Given the description of an element on the screen output the (x, y) to click on. 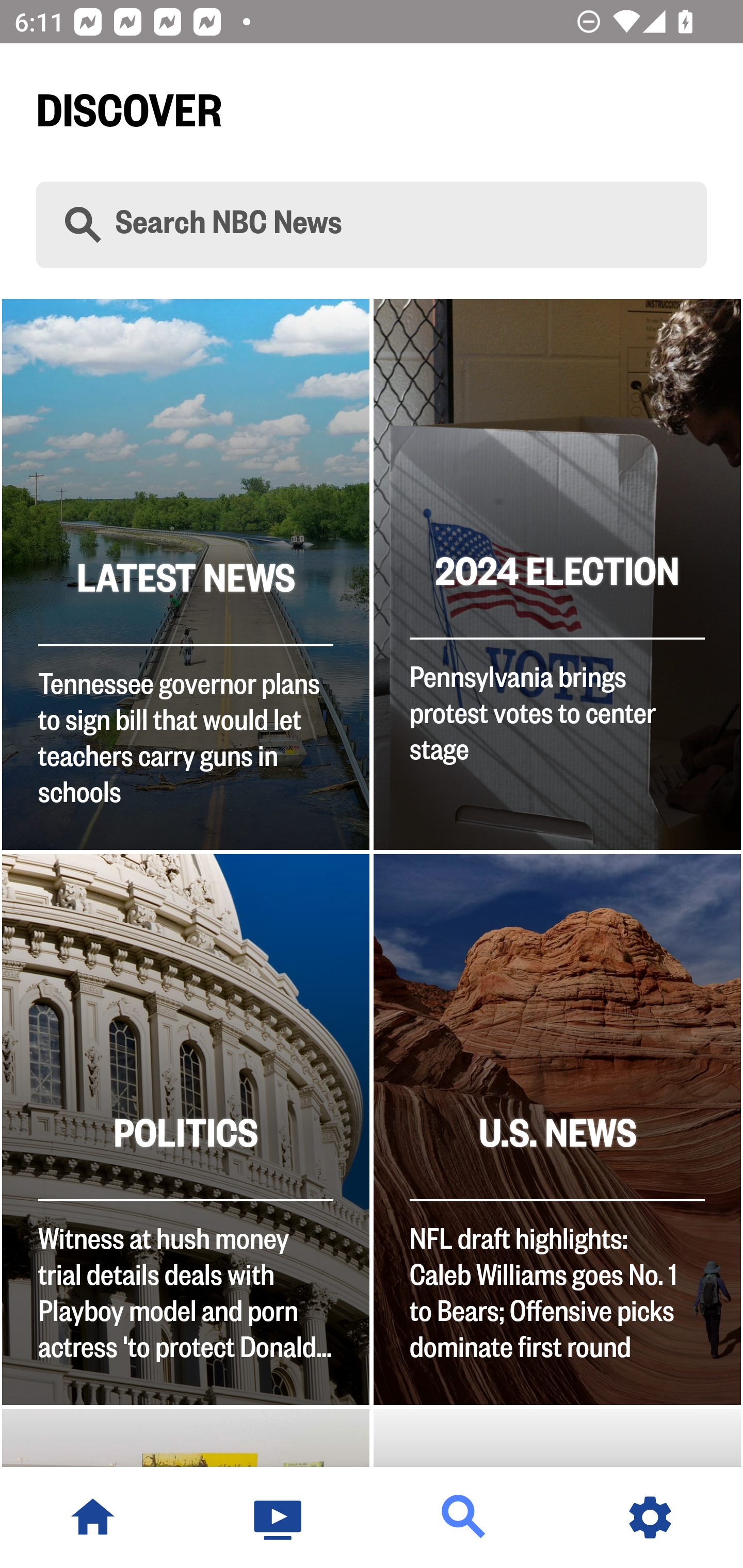
NBC News Home (92, 1517)
Watch (278, 1517)
Settings (650, 1517)
